Given the description of an element on the screen output the (x, y) to click on. 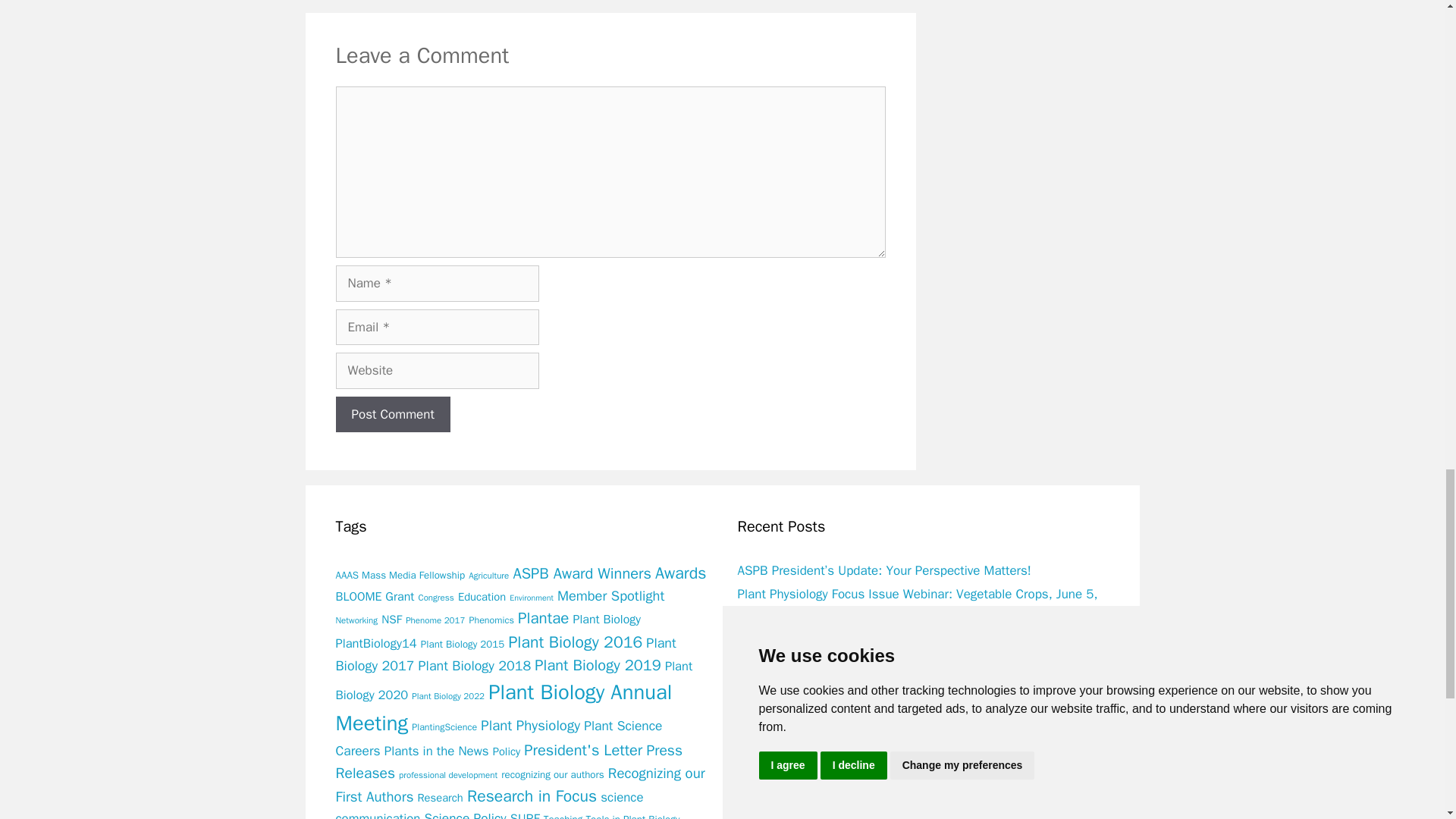
Post Comment (391, 414)
Post Comment (391, 414)
